Given the description of an element on the screen output the (x, y) to click on. 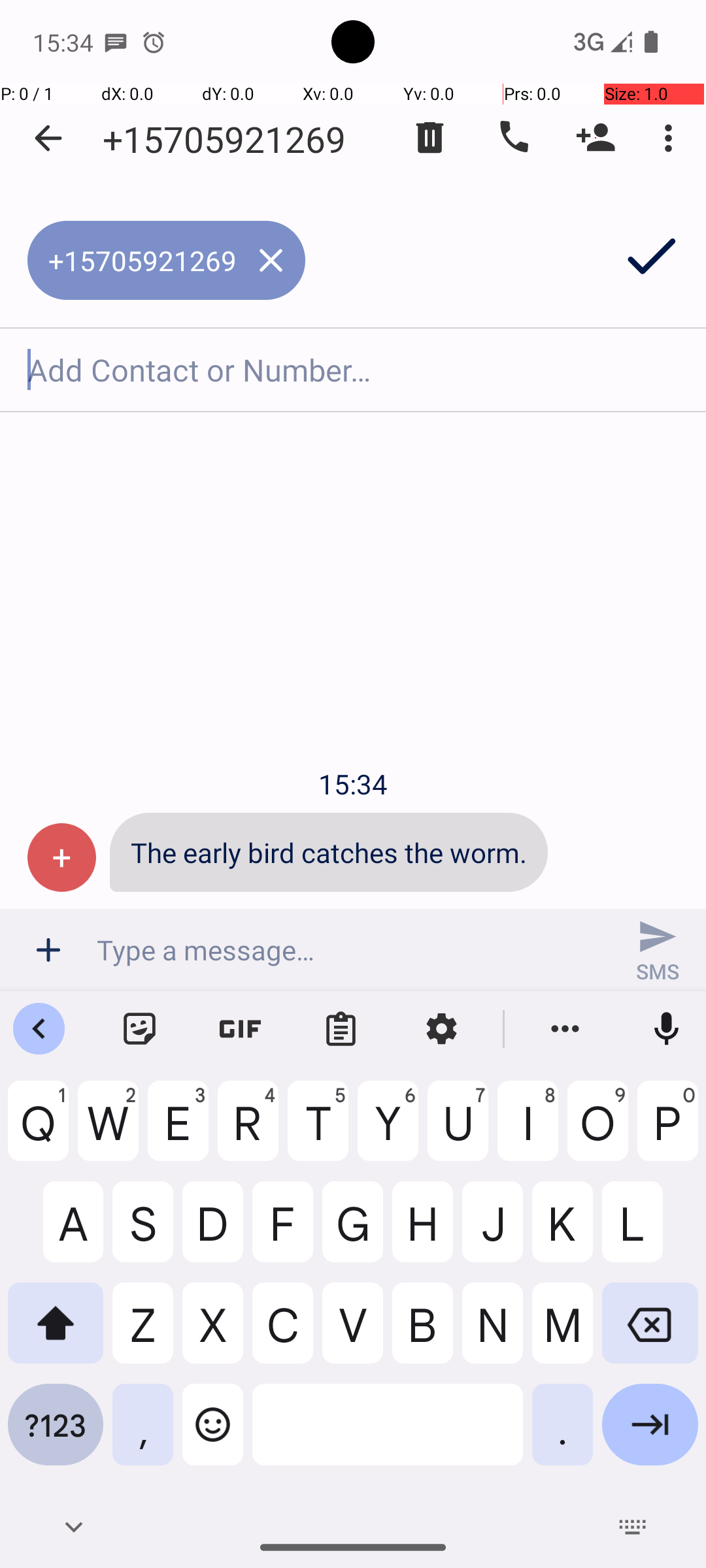
+15705921269 Element type: android.widget.TextView (223, 138)
The early bird catches the worm. Element type: android.widget.TextView (328, 851)
